Given the description of an element on the screen output the (x, y) to click on. 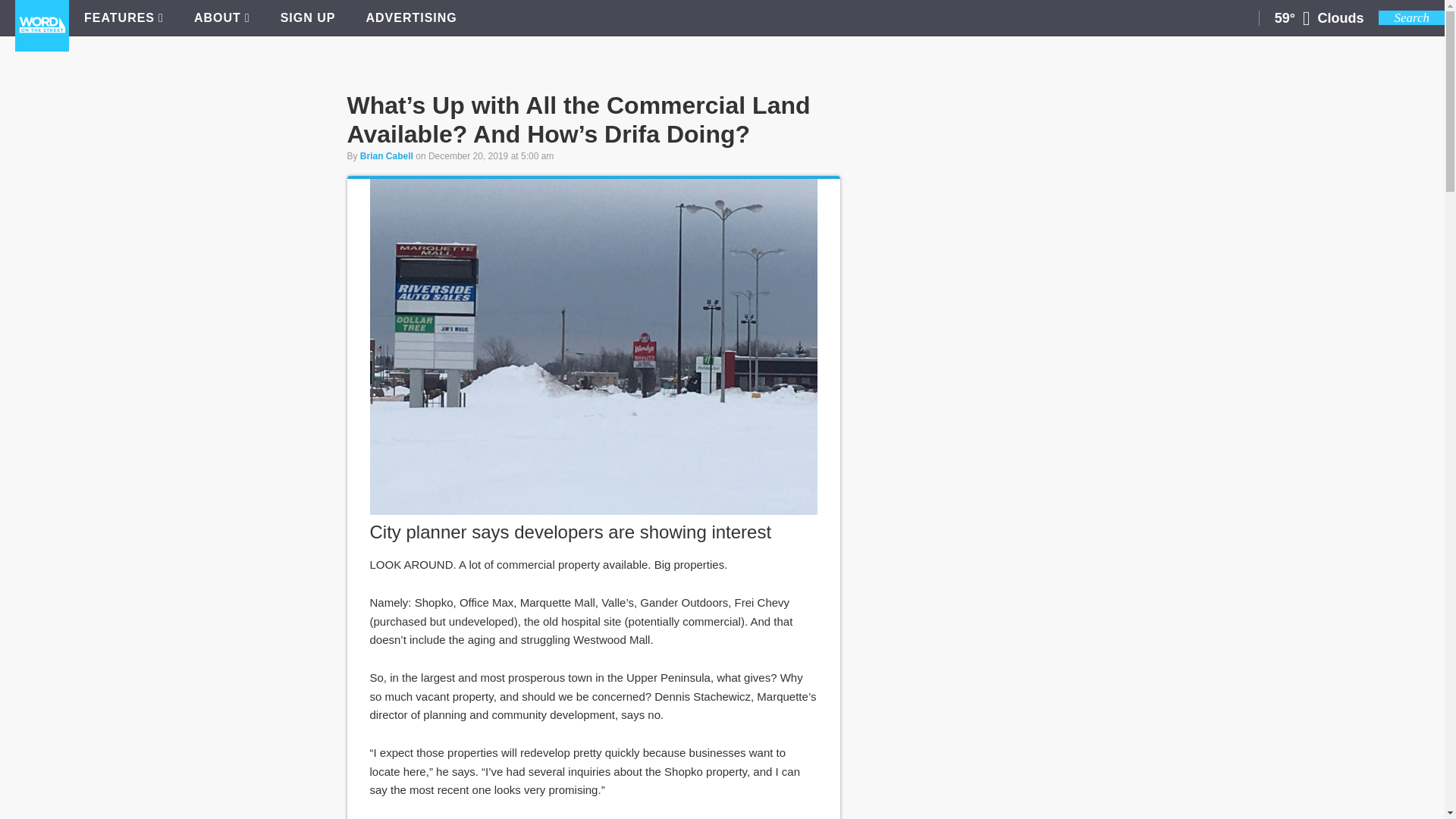
SIGN UP (307, 18)
FEATURES (123, 18)
ABOUT (221, 18)
Brian Cabell (386, 155)
ADVERTISING (410, 18)
